Given the description of an element on the screen output the (x, y) to click on. 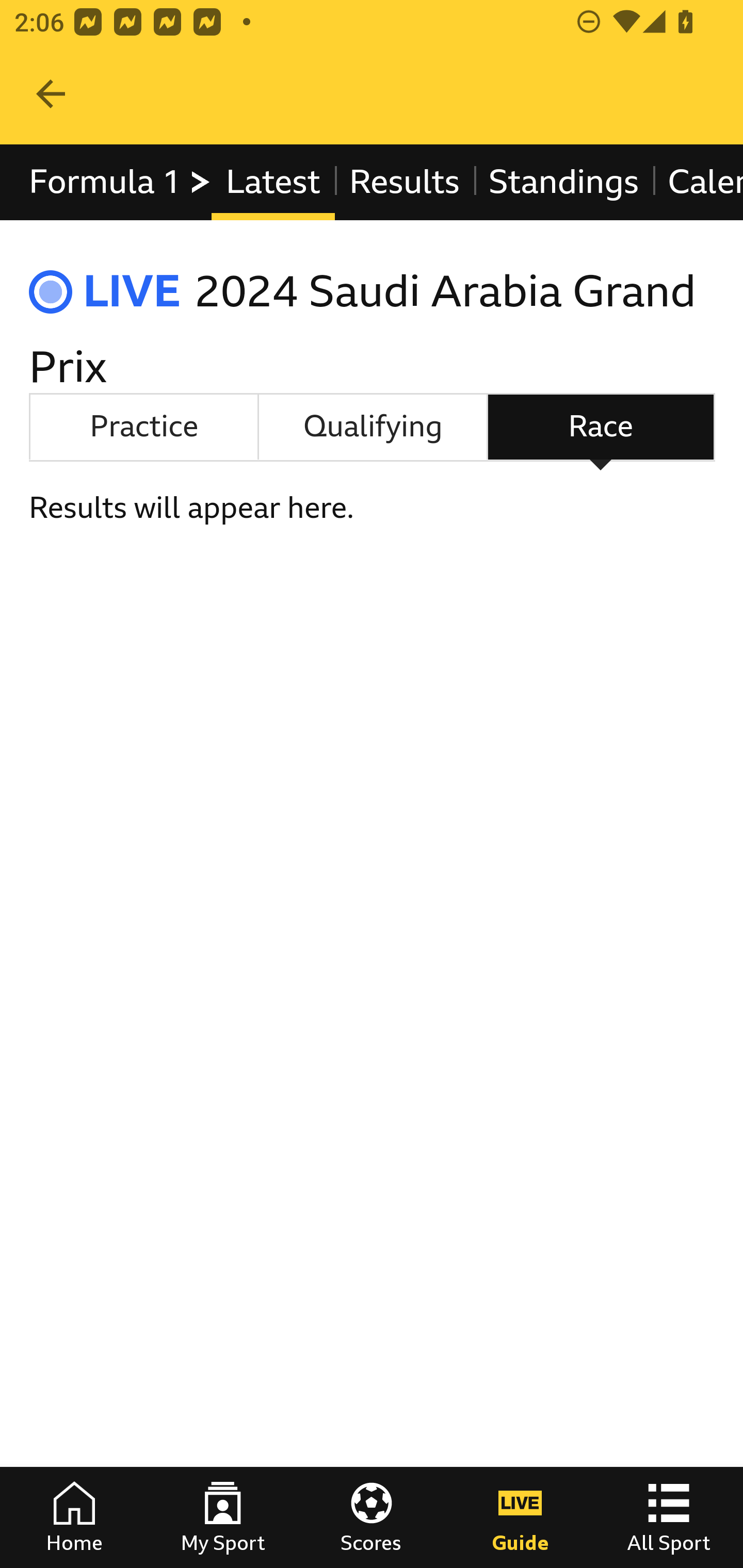
Navigate up (50, 93)
Formula 1  (120, 181)
Latest (272, 181)
Results (403, 181)
Standings (564, 181)
Practice (142, 426)
Qualifying (372, 426)
Race (600, 426)
Home (74, 1517)
My Sport (222, 1517)
Scores (371, 1517)
All Sport (668, 1517)
